Given the description of an element on the screen output the (x, y) to click on. 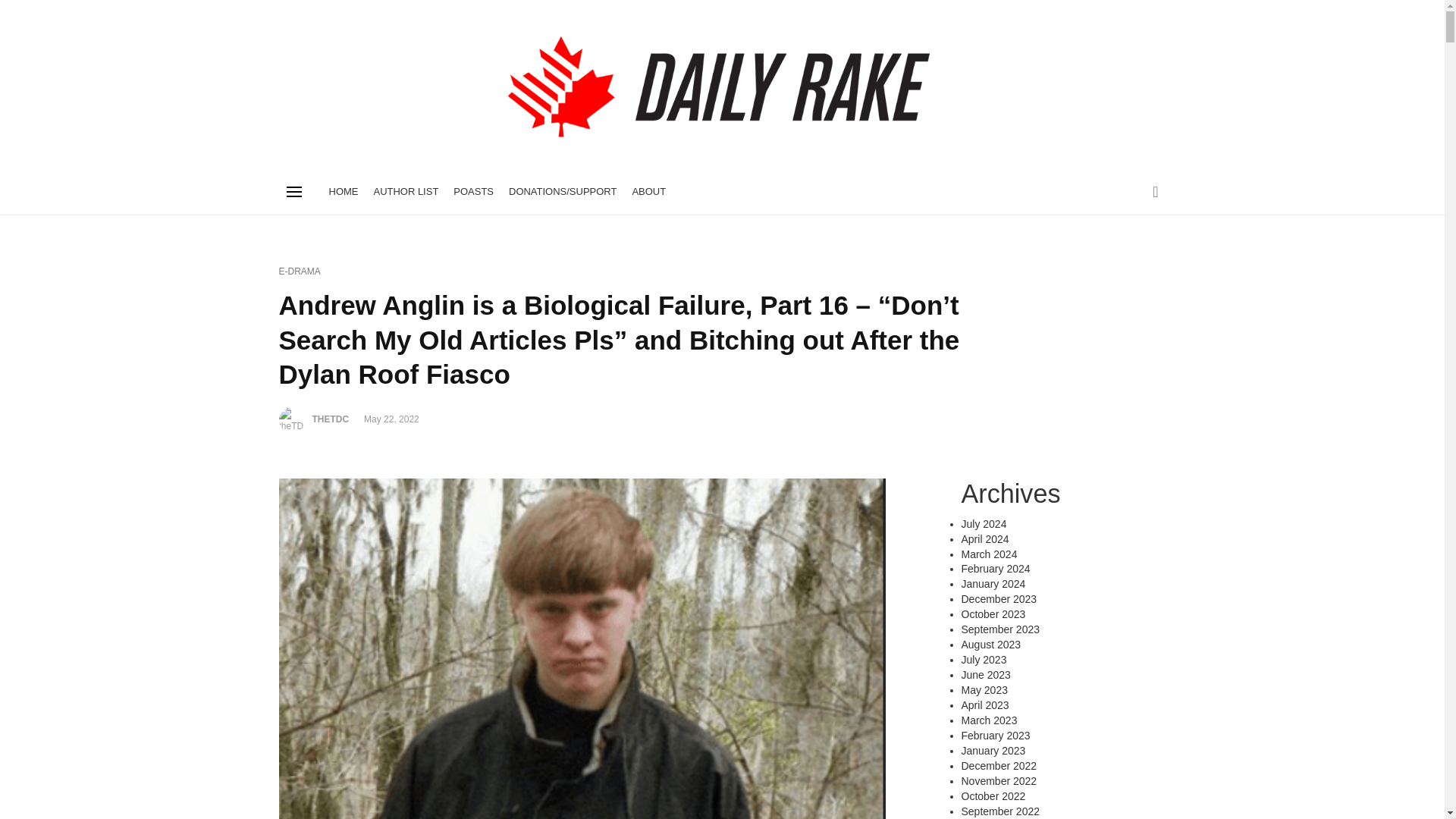
THETDC (331, 419)
HOME (343, 191)
POASTS (472, 191)
AUTHOR LIST (405, 191)
ABOUT (648, 191)
E-DRAMA (299, 271)
May 22, 2022 at 8:09 pm (391, 419)
